Given the description of an element on the screen output the (x, y) to click on. 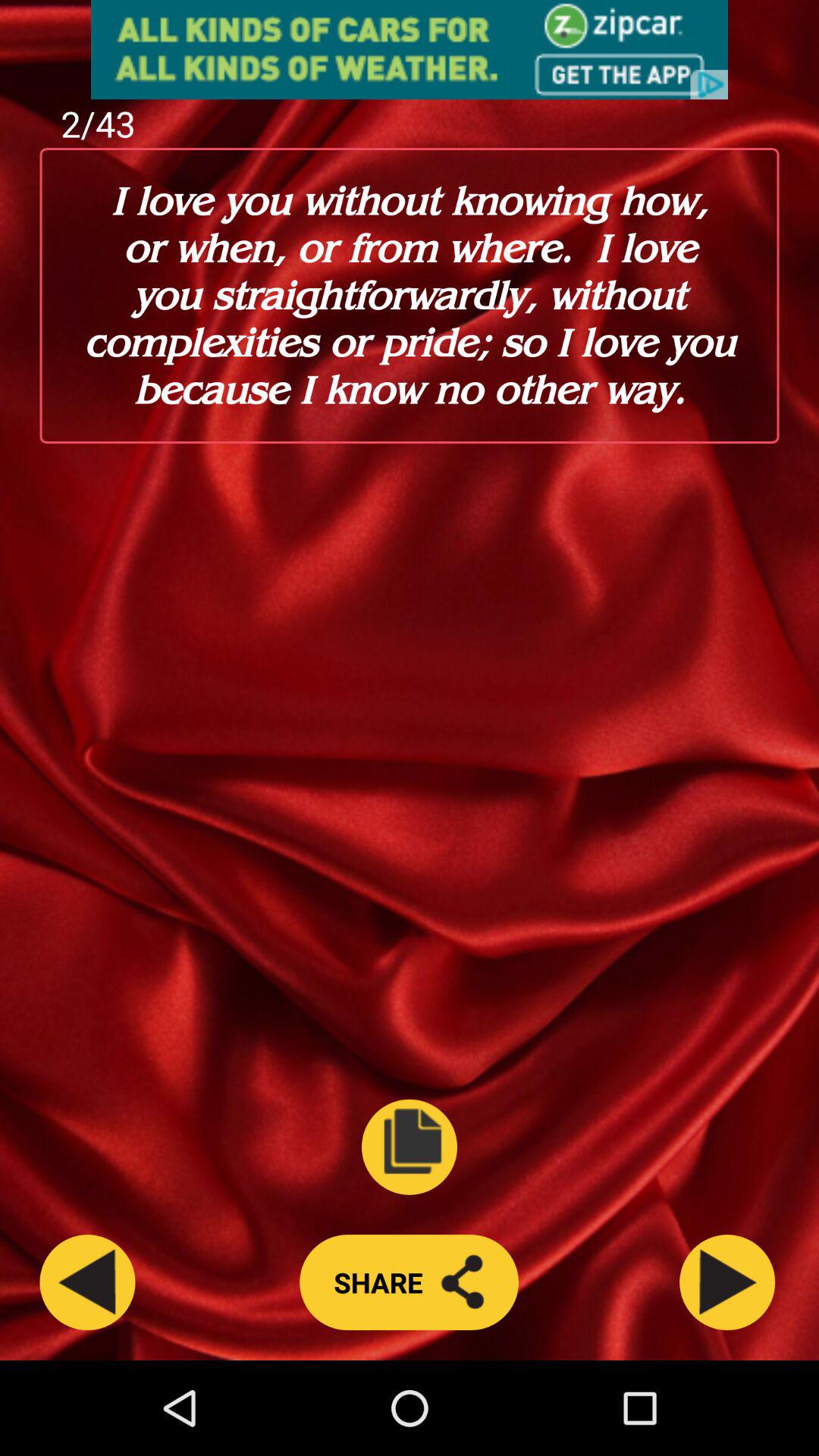
open advertisement page (409, 49)
